Given the description of an element on the screen output the (x, y) to click on. 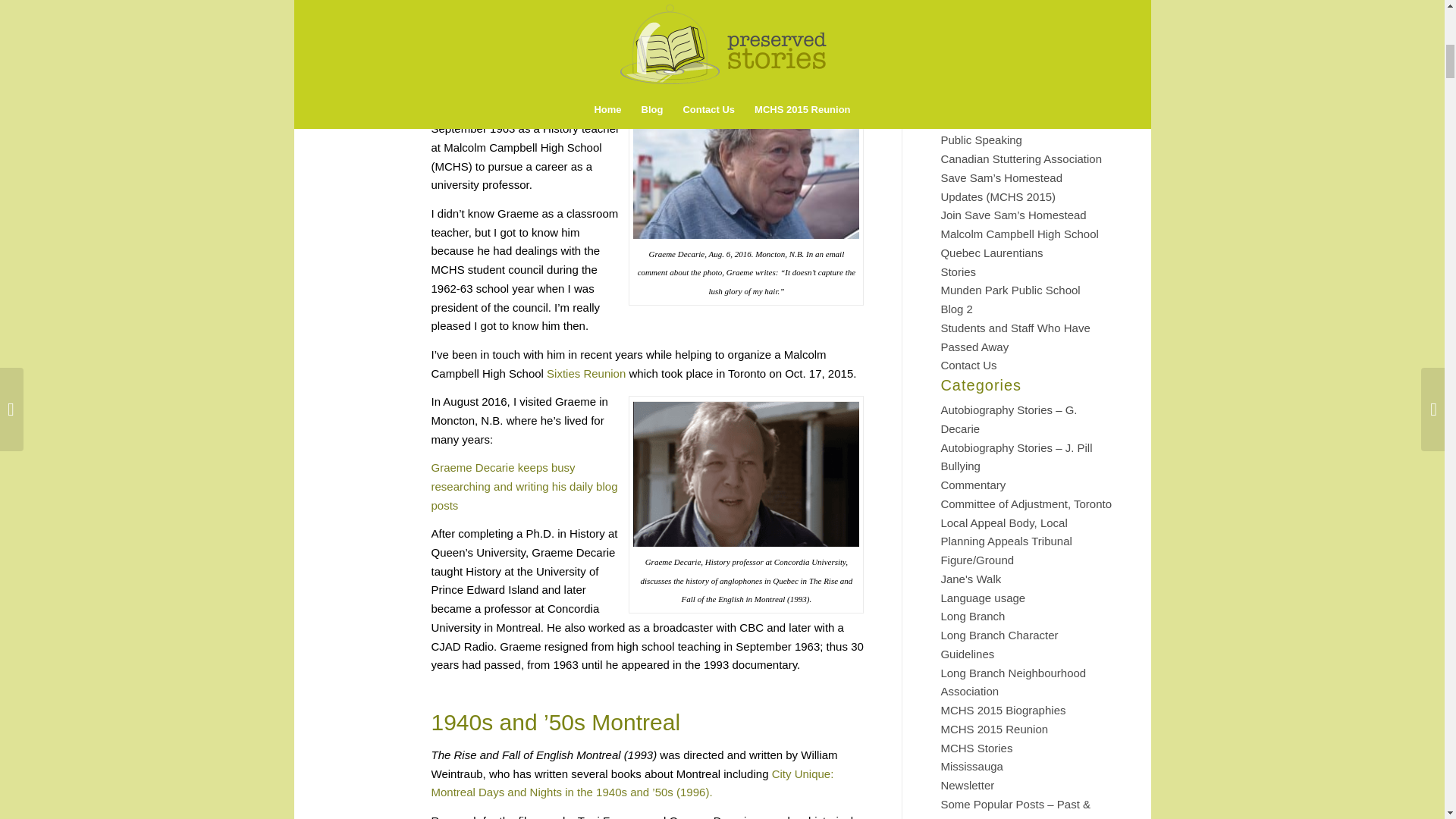
Sixties Reunion (586, 373)
previous posts, (550, 91)
